Given the description of an element on the screen output the (x, y) to click on. 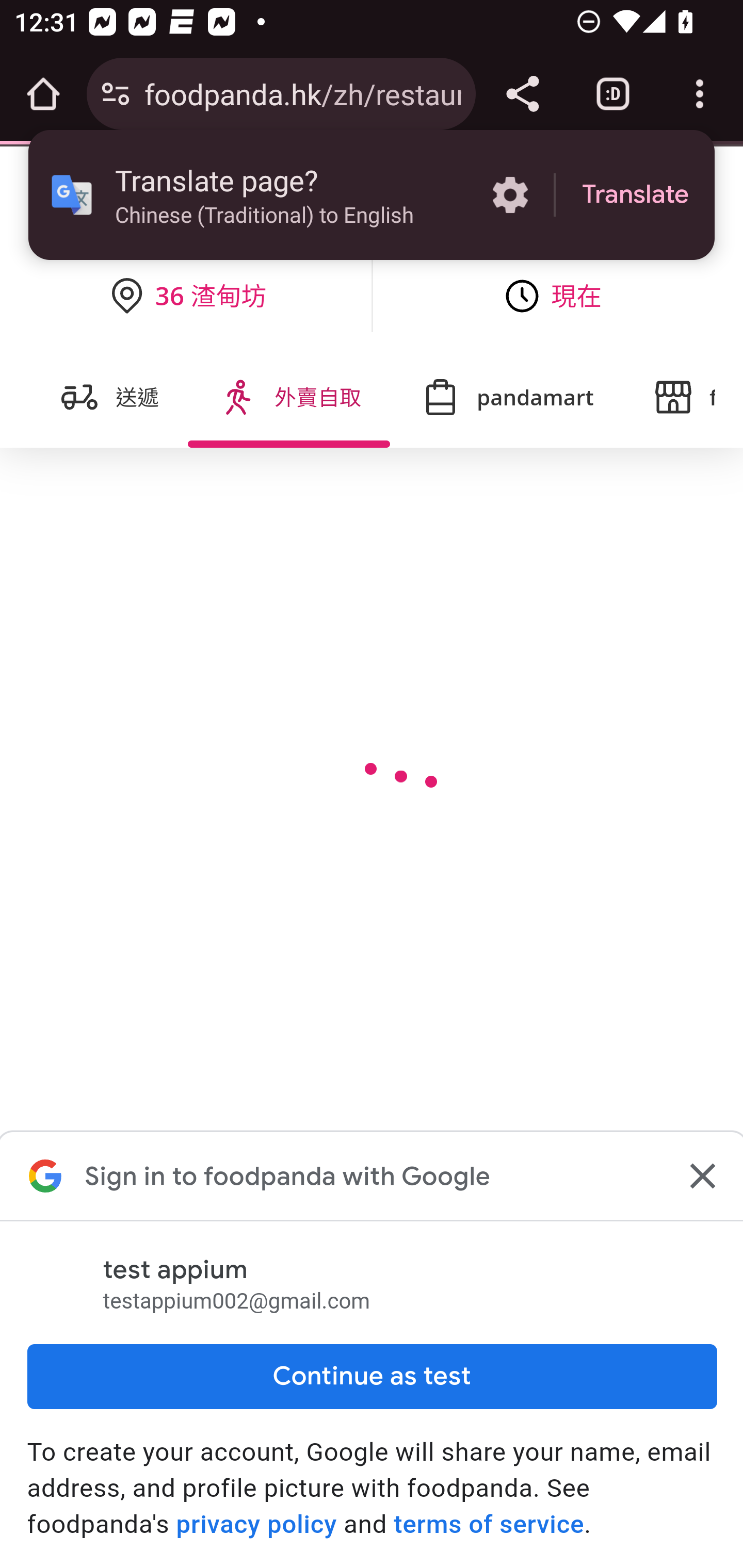
Open the home page (43, 93)
Connection is secure (115, 93)
Share (522, 93)
Switch or close tabs (612, 93)
Customize and control Google Chrome (699, 93)
Translate (634, 195)
More options in the Translate page? (509, 195)
36 渣甸坊 (188, 296)
現在 (555, 296)
送遞 (108, 397)
外賣自取 (289, 397)
pandamart (506, 397)
foodpanda mall (668, 397)
Close (700, 1175)
Continue as test (371, 1376)
privacy policy (255, 1523)
terms of service (489, 1523)
